Given the description of an element on the screen output the (x, y) to click on. 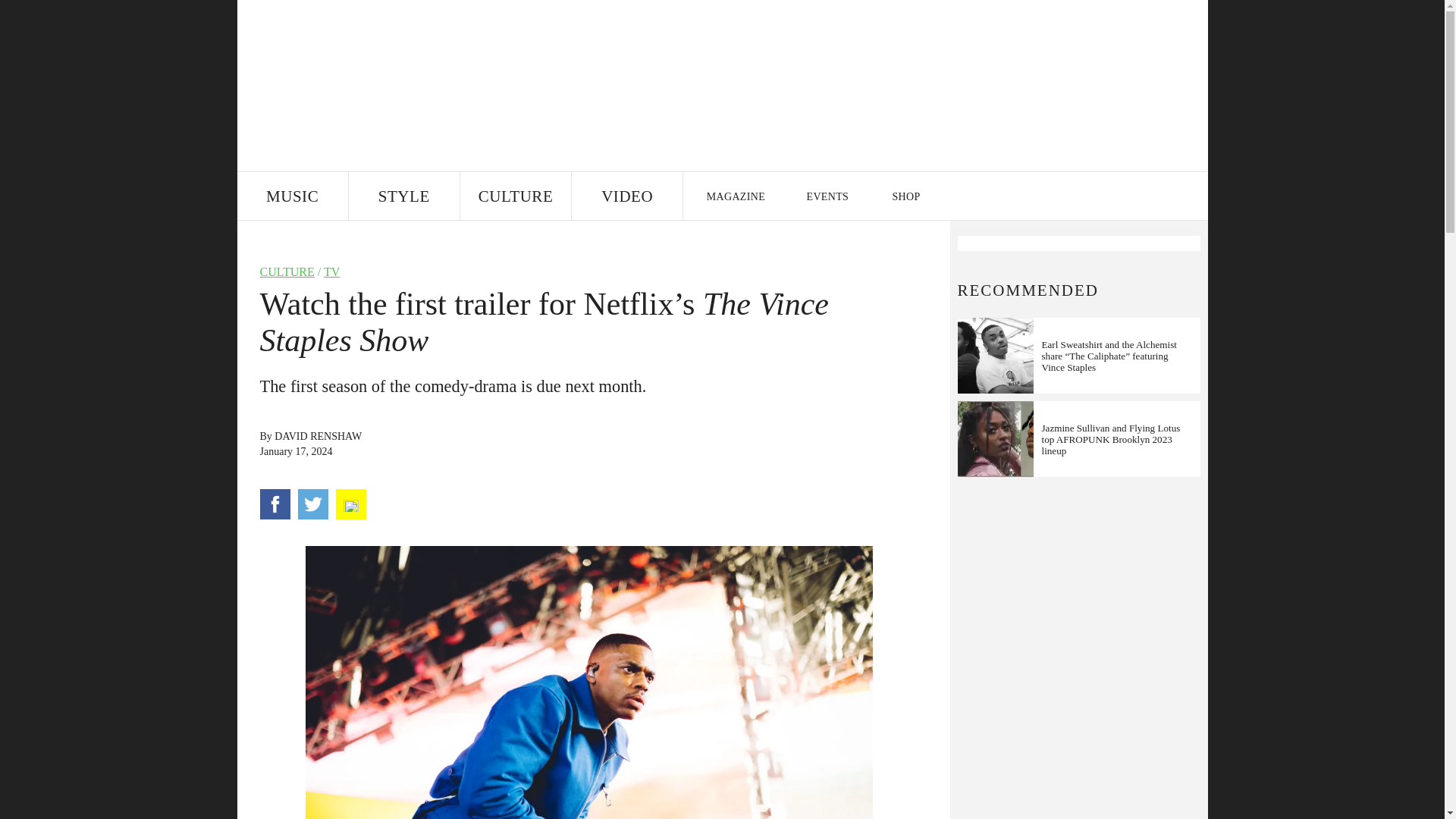
CULTURE (515, 196)
VIDEO (627, 196)
MUSIC (291, 196)
MAGAZINE (734, 196)
SHOP (905, 196)
STYLE (404, 196)
EVENTS (828, 196)
